Given the description of an element on the screen output the (x, y) to click on. 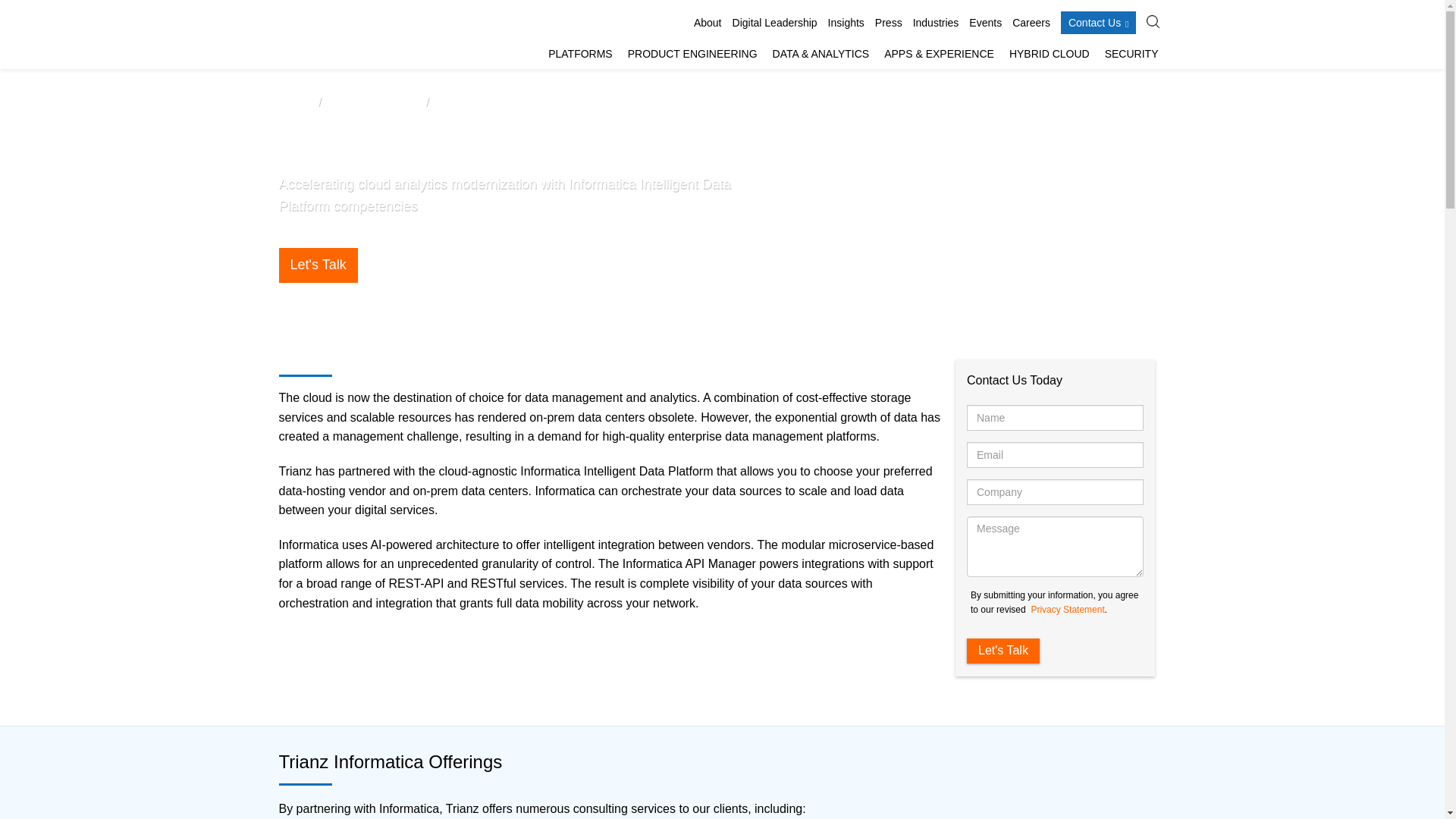
Digital Leadership (774, 22)
SECURITY (1131, 54)
Let's Talk (1002, 650)
Careers (1030, 22)
About (708, 22)
Events (985, 22)
HYBRID CLOUD (1049, 54)
Press (888, 22)
Insights (846, 22)
Industries (935, 22)
